Given the description of an element on the screen output the (x, y) to click on. 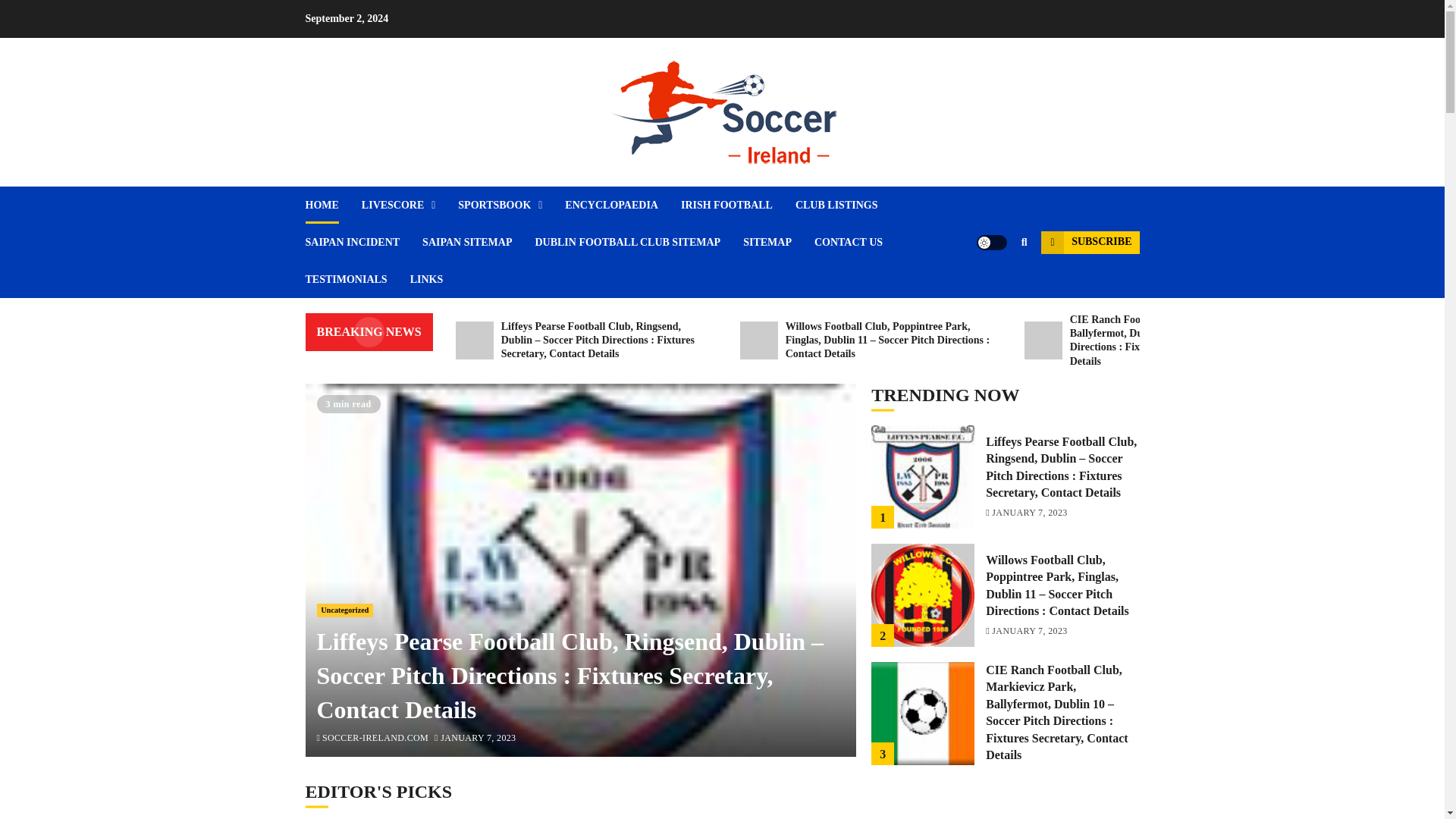
LIVESCORE (409, 204)
HOME (332, 204)
SPORTSBOOK (511, 204)
